Given the description of an element on the screen output the (x, y) to click on. 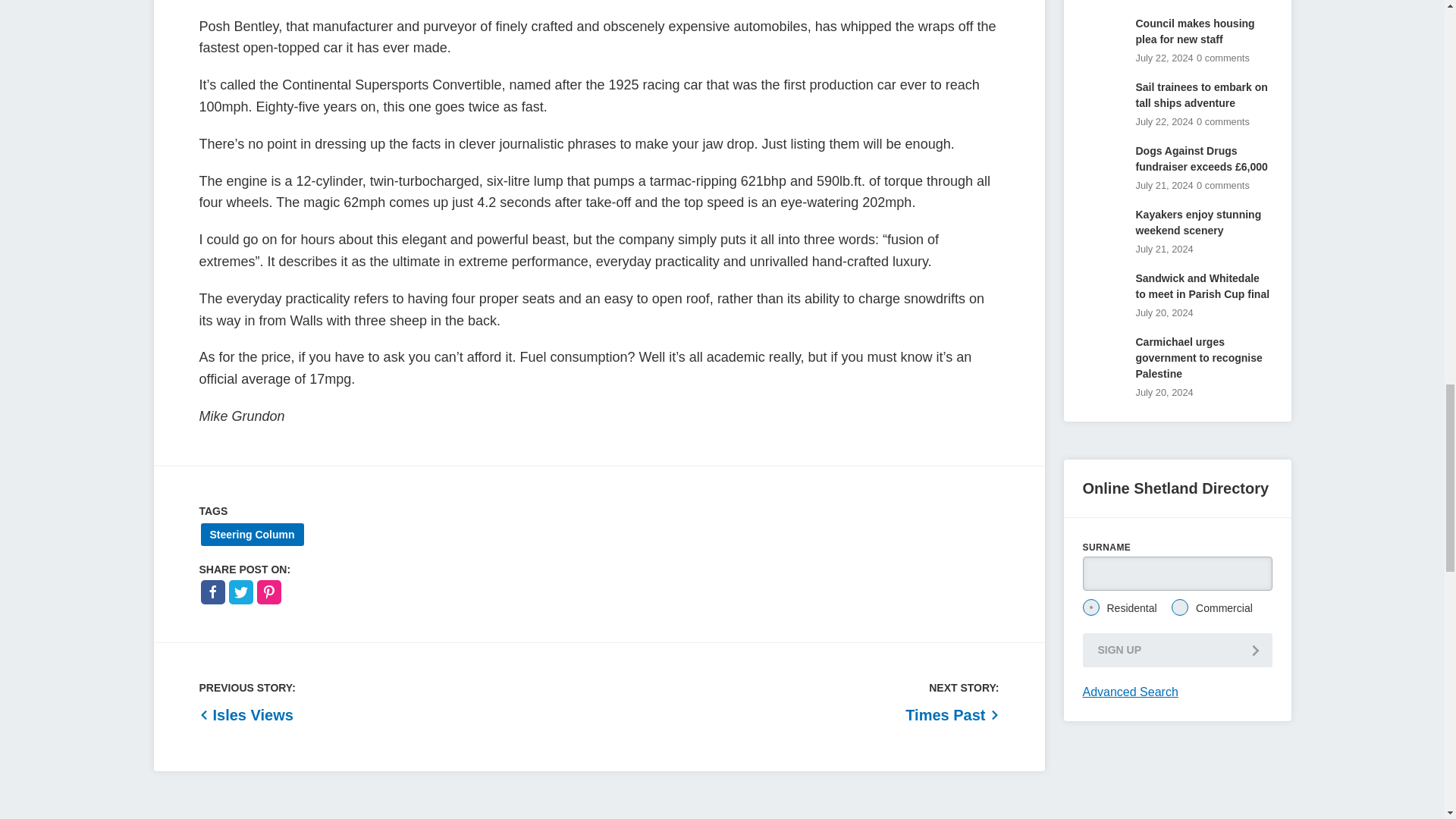
commercial (1180, 606)
Steering Column (251, 534)
Times Past (951, 714)
residential (1091, 606)
Isles Views (245, 714)
